Given the description of an element on the screen output the (x, y) to click on. 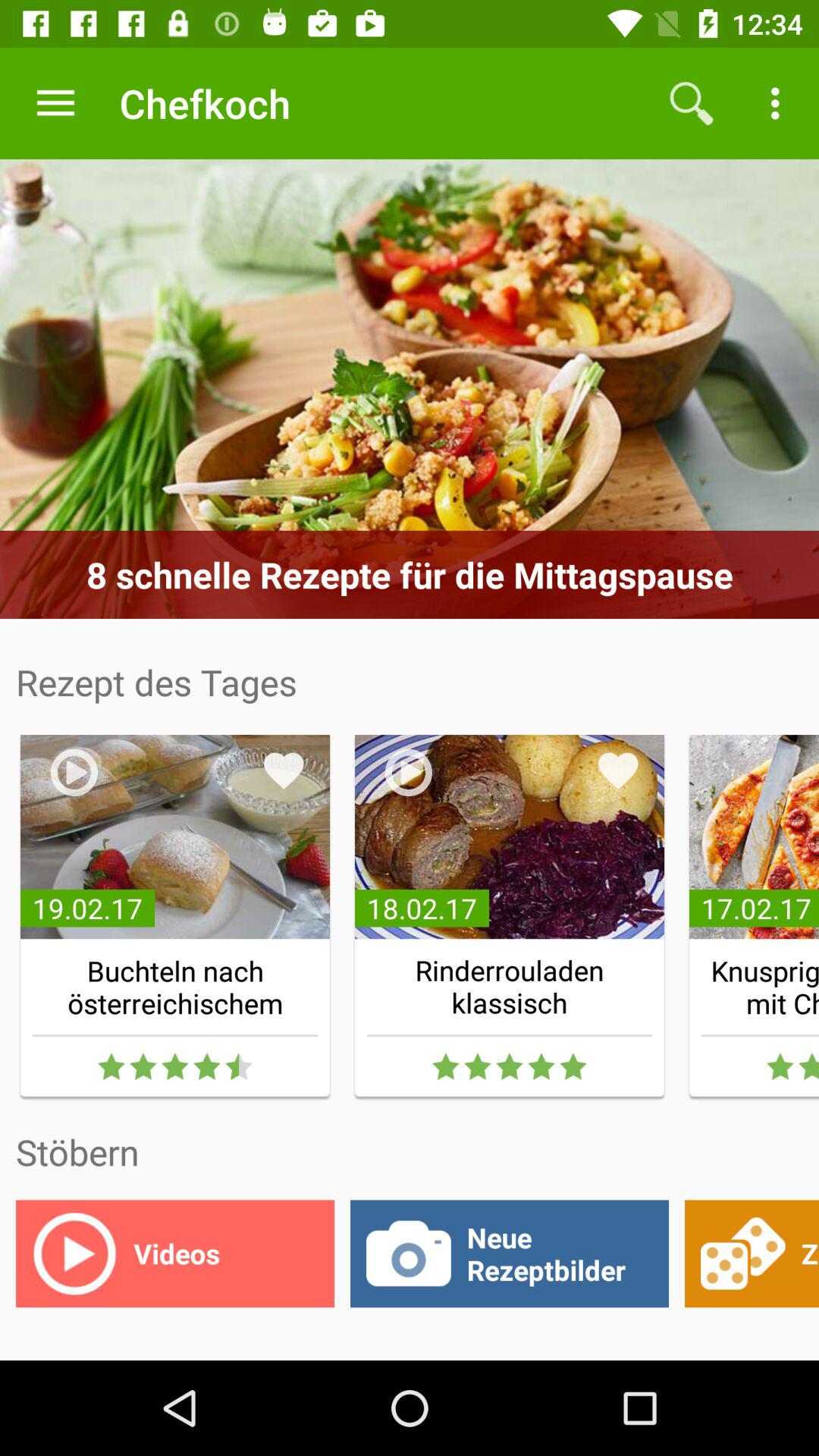
tap the icon next to chefkoch app (691, 103)
